Given the description of an element on the screen output the (x, y) to click on. 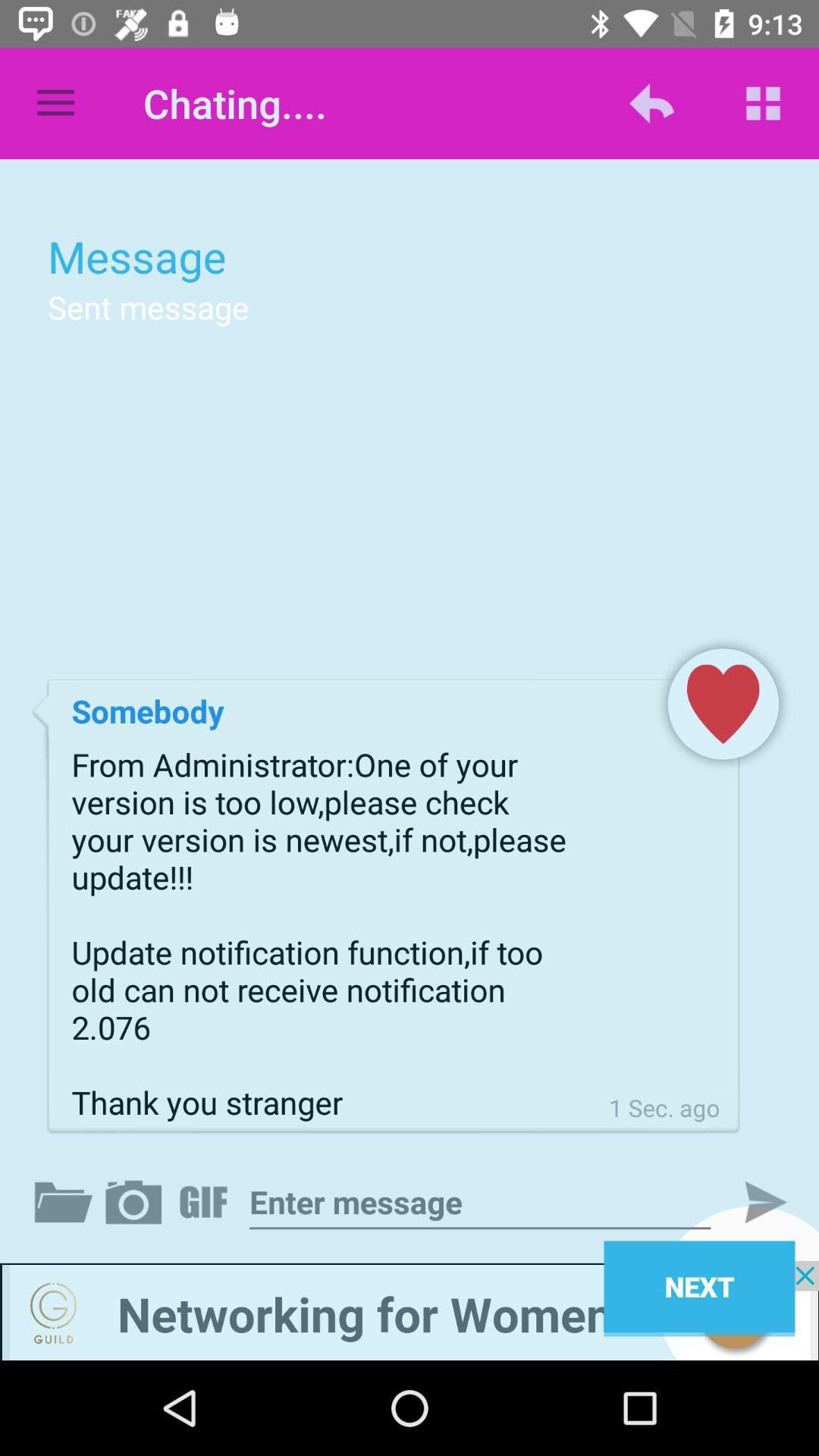
search file (66, 1202)
